Given the description of an element on the screen output the (x, y) to click on. 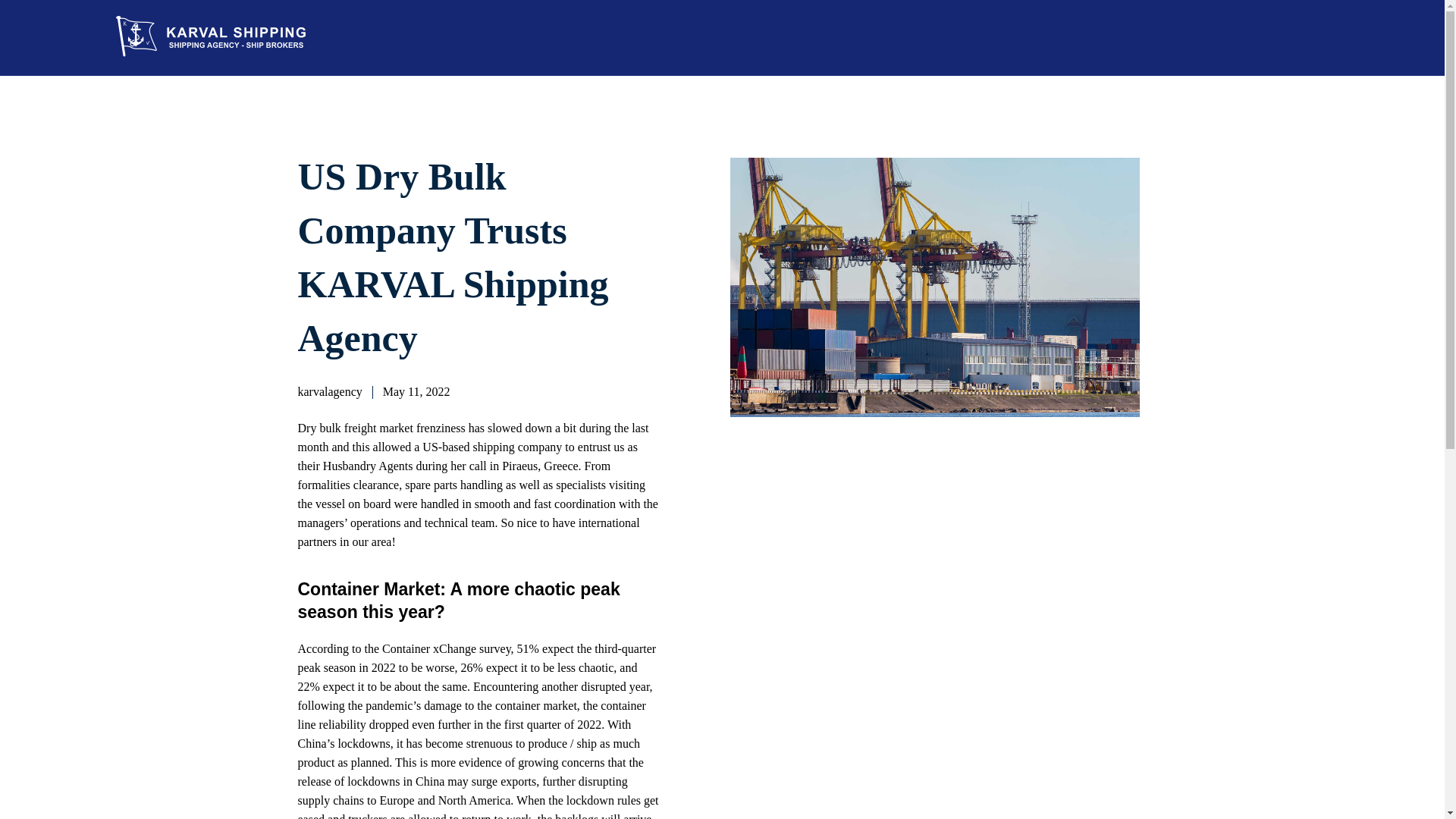
KARVAL Shipping (233, 36)
KARVAL Shipping (193, 69)
KARVAL Shipping (193, 69)
US Dry Bulk Company Trusts KARVAL Shipping Agency (452, 257)
